Given the description of an element on the screen output the (x, y) to click on. 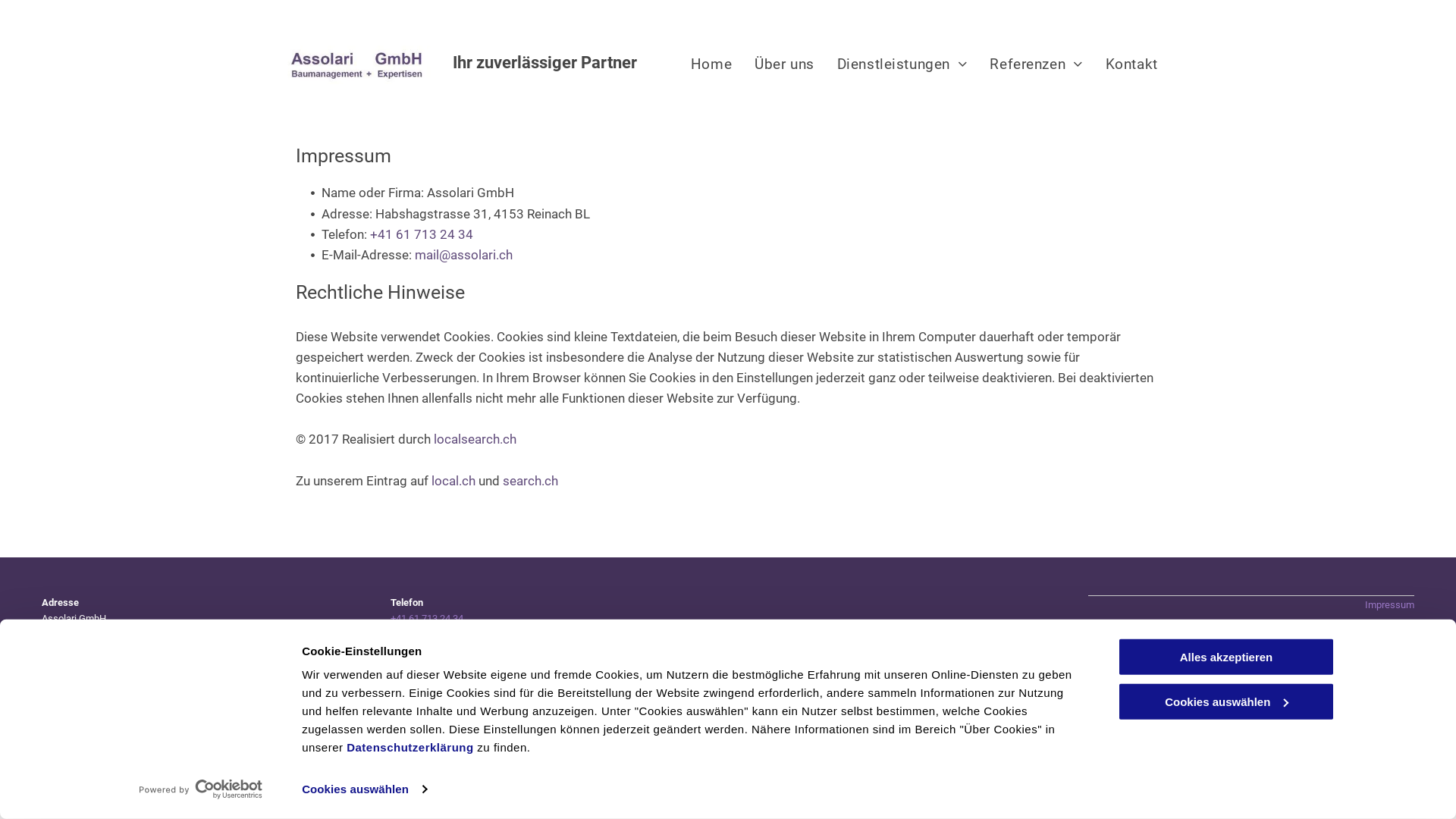
+41 61 713 24 34 Element type: text (421, 233)
mail@assolari.ch Element type: text (427, 657)
mail@assolari.ch Element type: text (463, 254)
Dienstleistungen Element type: text (902, 63)
Kontakt Element type: text (1131, 63)
Home Element type: text (710, 63)
local.ch Element type: text (453, 480)
search.ch Element type: text (530, 480)
+41 61 713 24 34 Element type: text (426, 626)
Alles akzeptieren Element type: text (1225, 656)
Impressum Element type: text (1389, 604)
Referenzen Element type: text (1035, 63)
localsearch.ch Element type: text (474, 438)
